Given the description of an element on the screen output the (x, y) to click on. 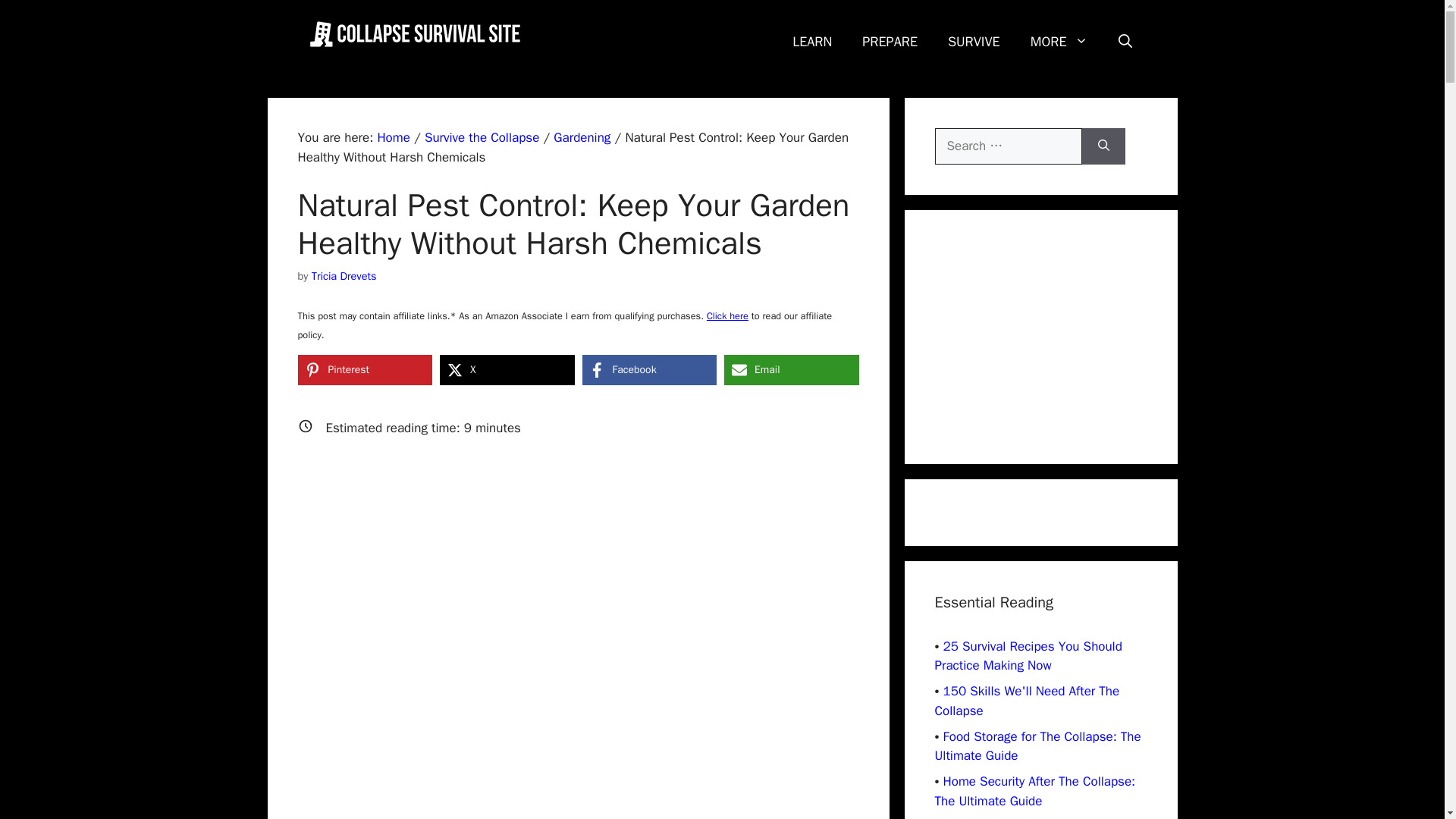
Pinterest (364, 369)
LEARN (812, 40)
PREPARE (890, 40)
Click here (727, 316)
MORE (1058, 40)
Survive the Collapse (481, 137)
Tricia Drevets (344, 274)
X (507, 369)
Home (393, 137)
View all posts by Tricia Drevets (344, 274)
SURVIVE (973, 40)
Gardening (581, 137)
Facebook (649, 369)
Email (791, 369)
